Given the description of an element on the screen output the (x, y) to click on. 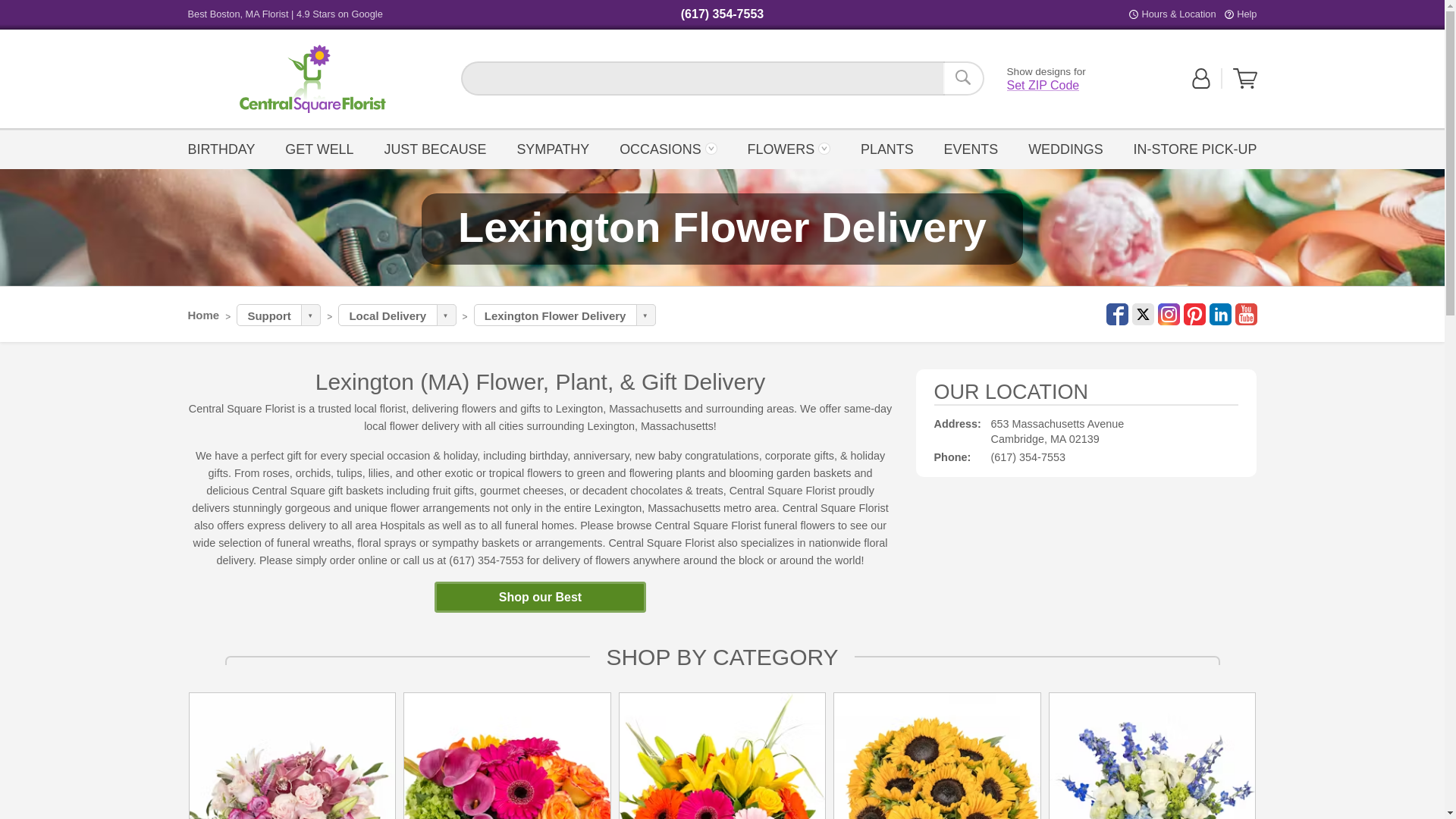
FLOWERS (312, 79)
Shopping Cart (788, 147)
Set ZIP Code (1245, 78)
Help (1043, 85)
Search (1246, 13)
JUST BECAUSE (963, 78)
Central Square Florist Logo (435, 147)
GET WELL (312, 79)
SYMPATHY (319, 147)
Back to the Home Page (552, 147)
Shopping Cart (312, 79)
BIRTHDAY (1245, 85)
OCCASIONS (225, 147)
User Account (668, 147)
